Given the description of an element on the screen output the (x, y) to click on. 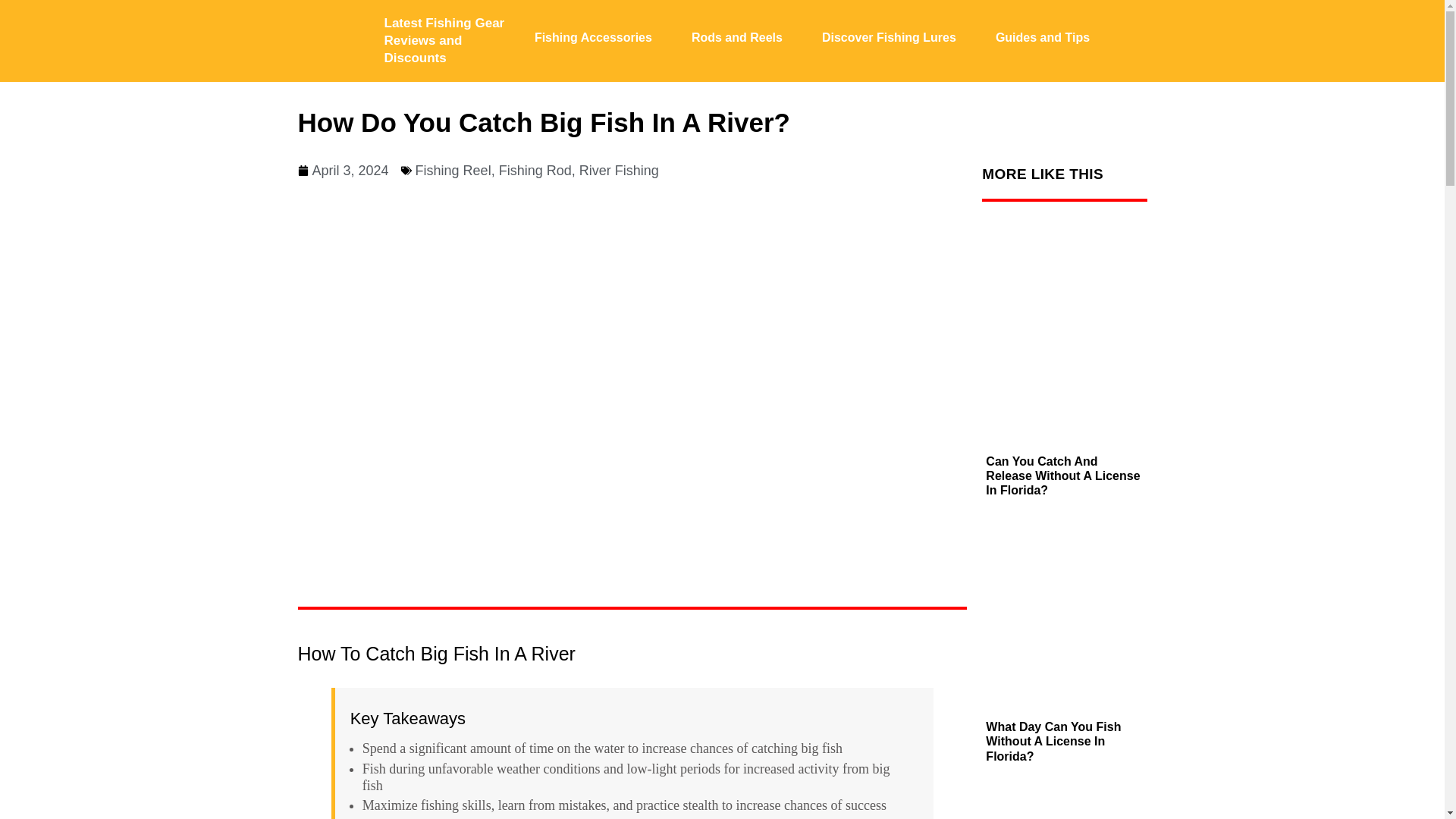
Discover Fishing Lures (888, 36)
Fishing Accessories (593, 36)
Latest Fishing Gear Reviews and Discounts (443, 40)
Rods and Reels (736, 36)
